Given the description of an element on the screen output the (x, y) to click on. 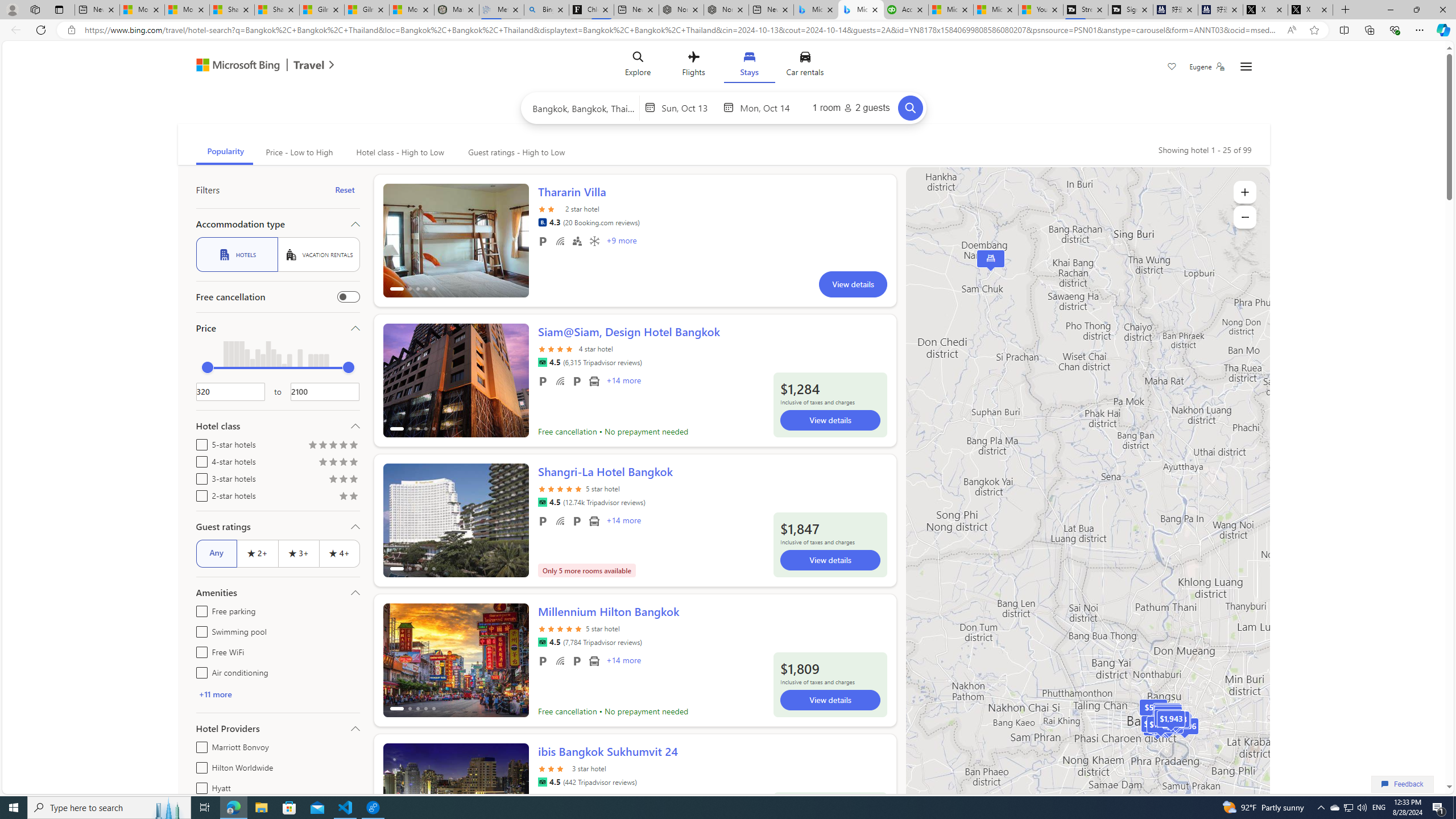
Hyatt (199, 786)
Hilton Worldwide (199, 765)
min  (207, 367)
Refresh (40, 29)
Zoom in (1244, 191)
Class: trvl-hub-header (723, 65)
Tripadvisor (542, 781)
Bing Real Estate - Home sales and rental listings (546, 9)
Search hotels or place (584, 107)
Amenities (277, 592)
Chloe Sorvino (591, 9)
Browser essentials (1394, 29)
Zoom out (1244, 216)
Flights (693, 65)
